Given the description of an element on the screen output the (x, y) to click on. 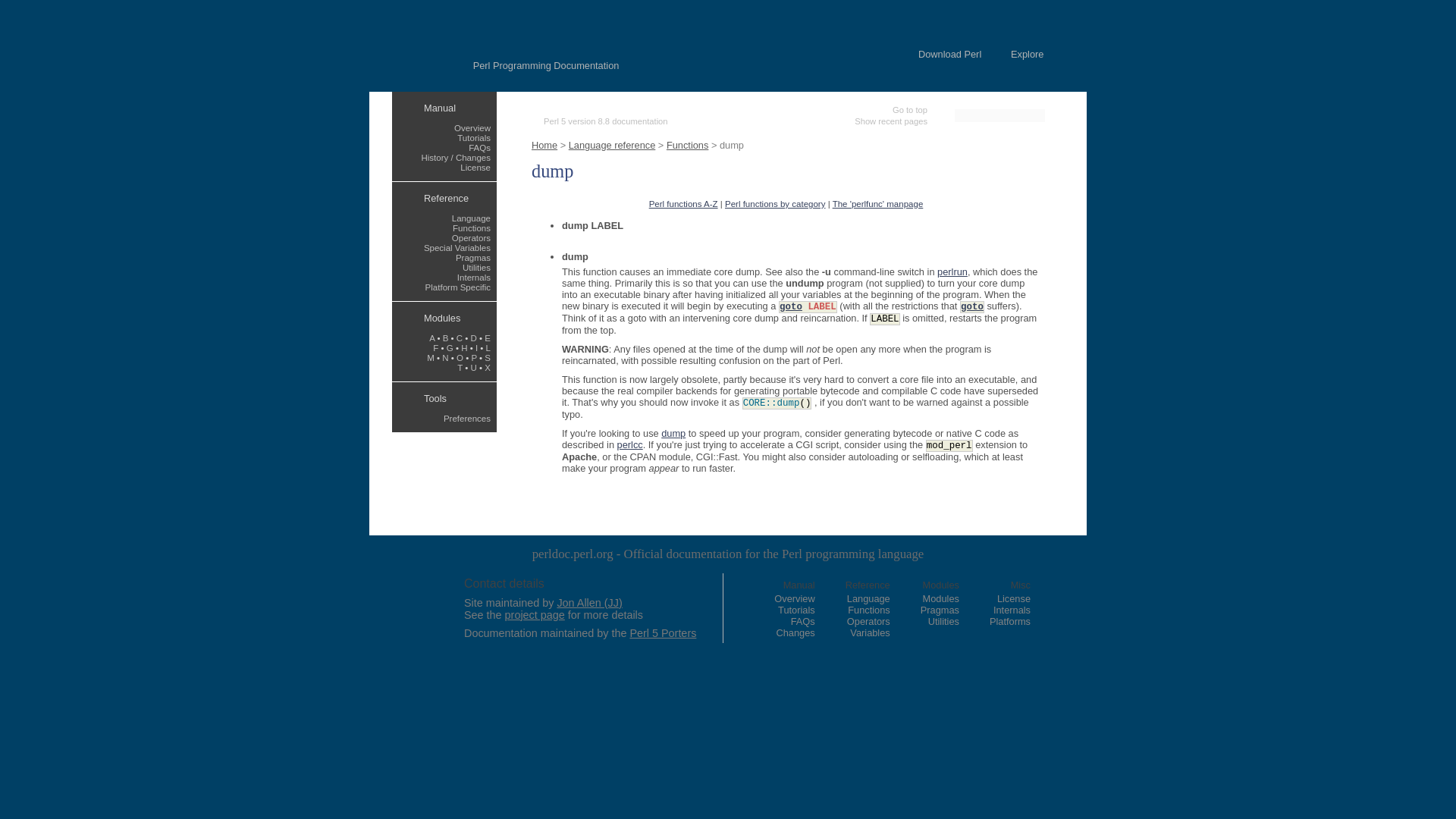
Functions (471, 227)
T (460, 367)
Explore (1026, 53)
Overview (472, 127)
Utilities (476, 266)
M (429, 357)
G (449, 347)
Internals (473, 276)
FAQs (479, 147)
O (460, 357)
U (473, 367)
L (488, 347)
Language reference (612, 144)
E (487, 338)
B (445, 338)
